Given the description of an element on the screen output the (x, y) to click on. 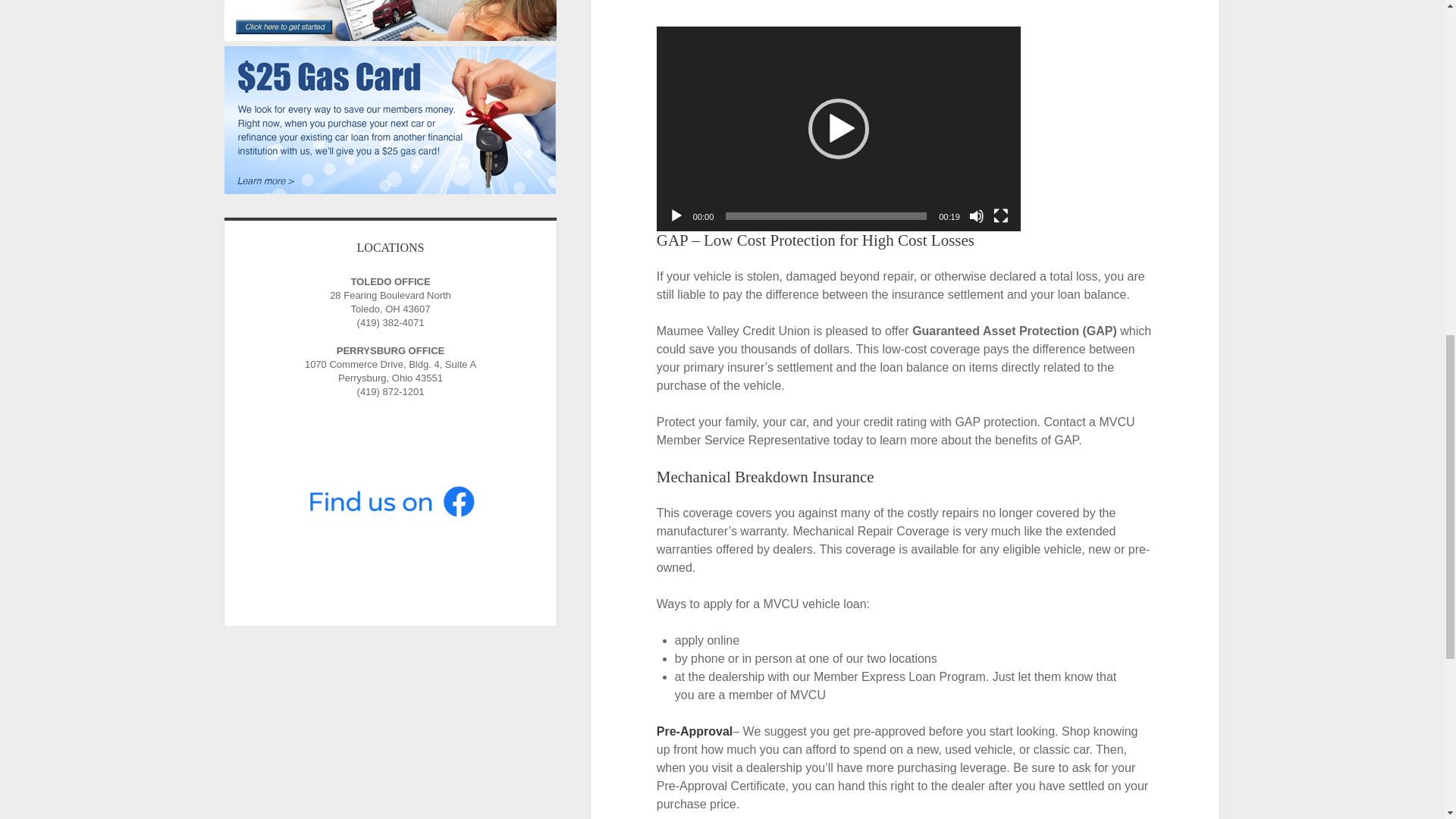
Play (676, 215)
Fullscreen (1000, 215)
Mute (976, 215)
